Given the description of an element on the screen output the (x, y) to click on. 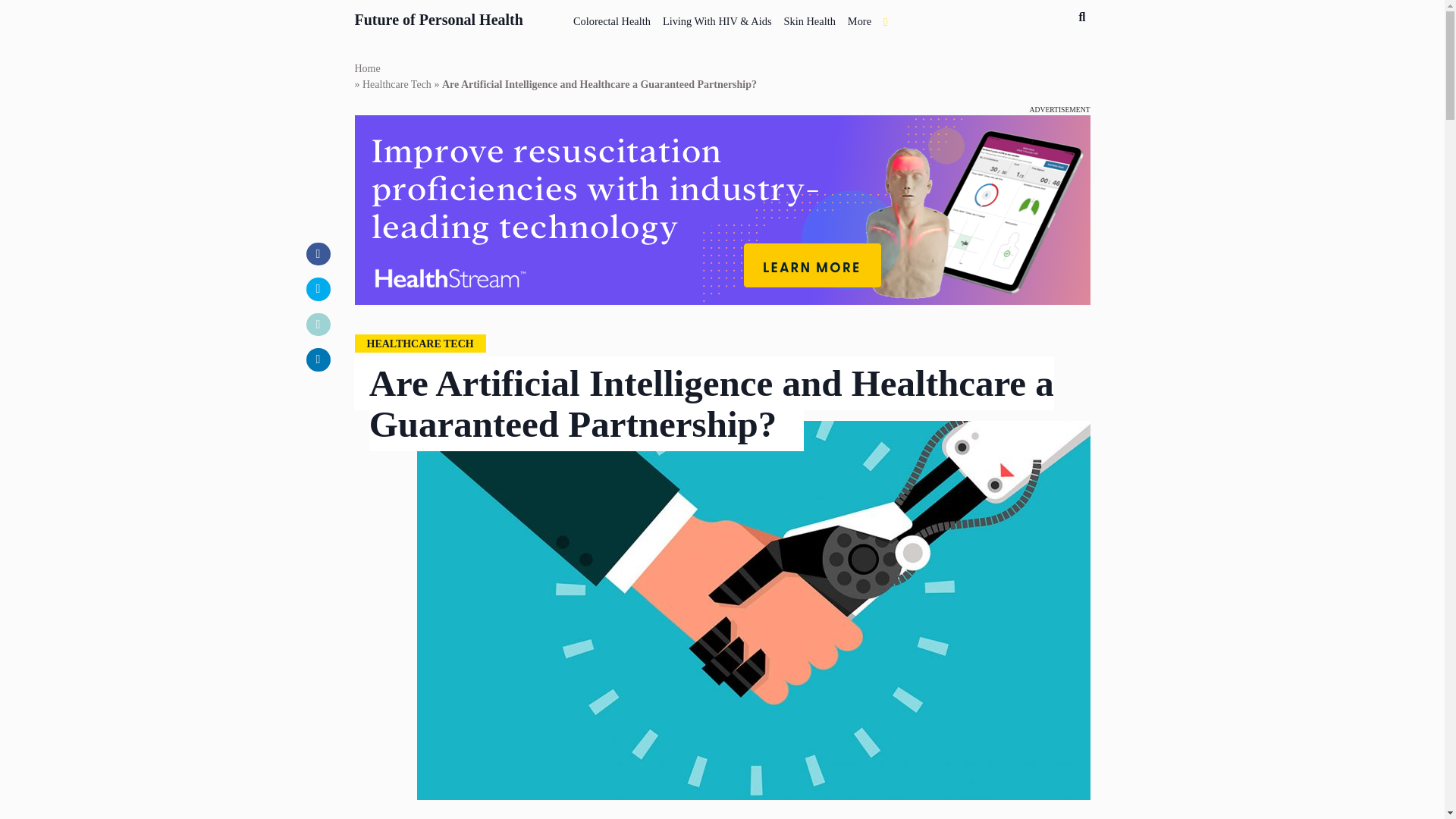
Skin Health (809, 18)
Future of Personal Health (438, 17)
Colorectal Health (611, 18)
More (859, 18)
